Given the description of an element on the screen output the (x, y) to click on. 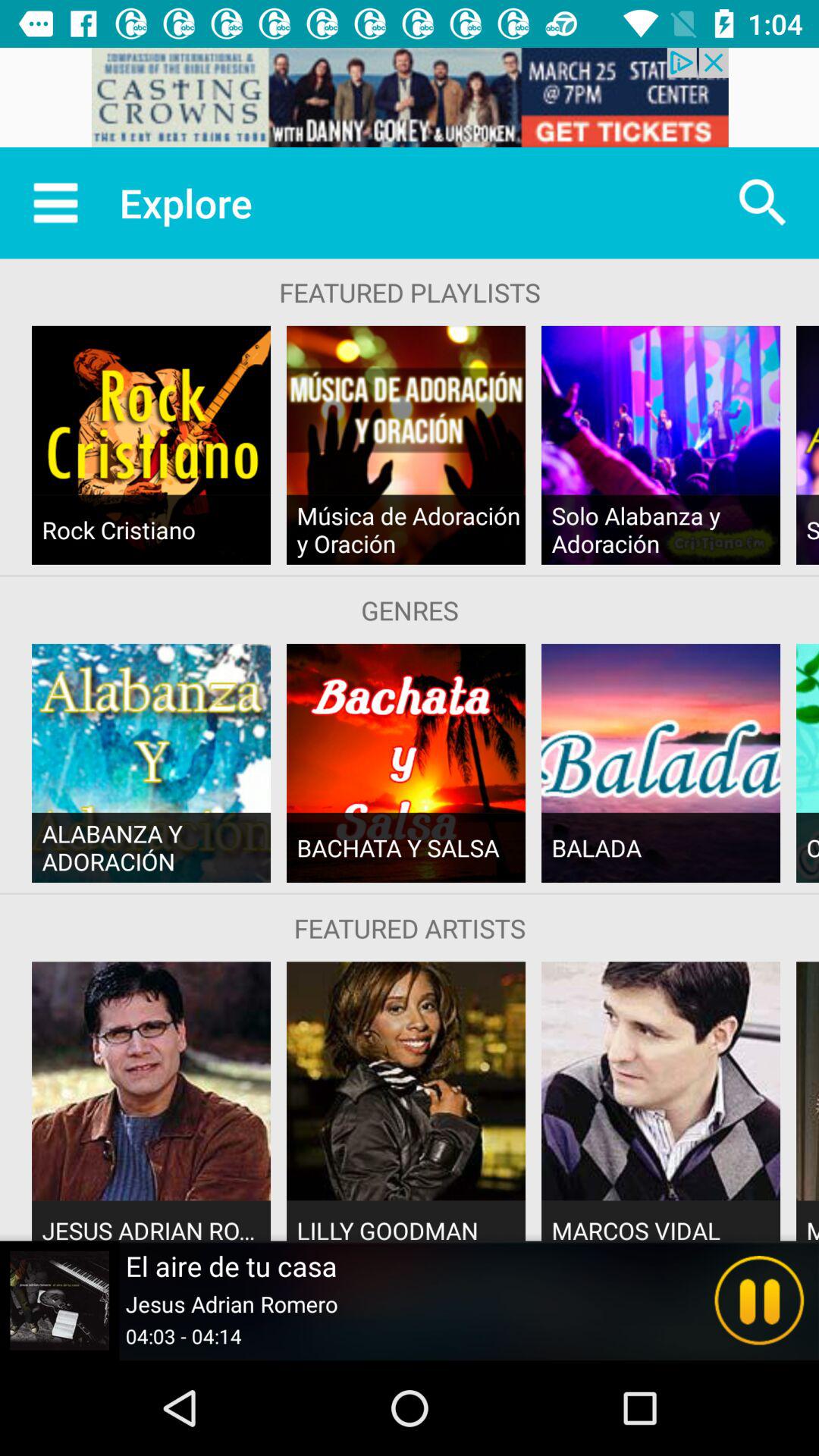
select the third image which is under the featured artists (660, 1079)
select first image (151, 445)
